Given the description of an element on the screen output the (x, y) to click on. 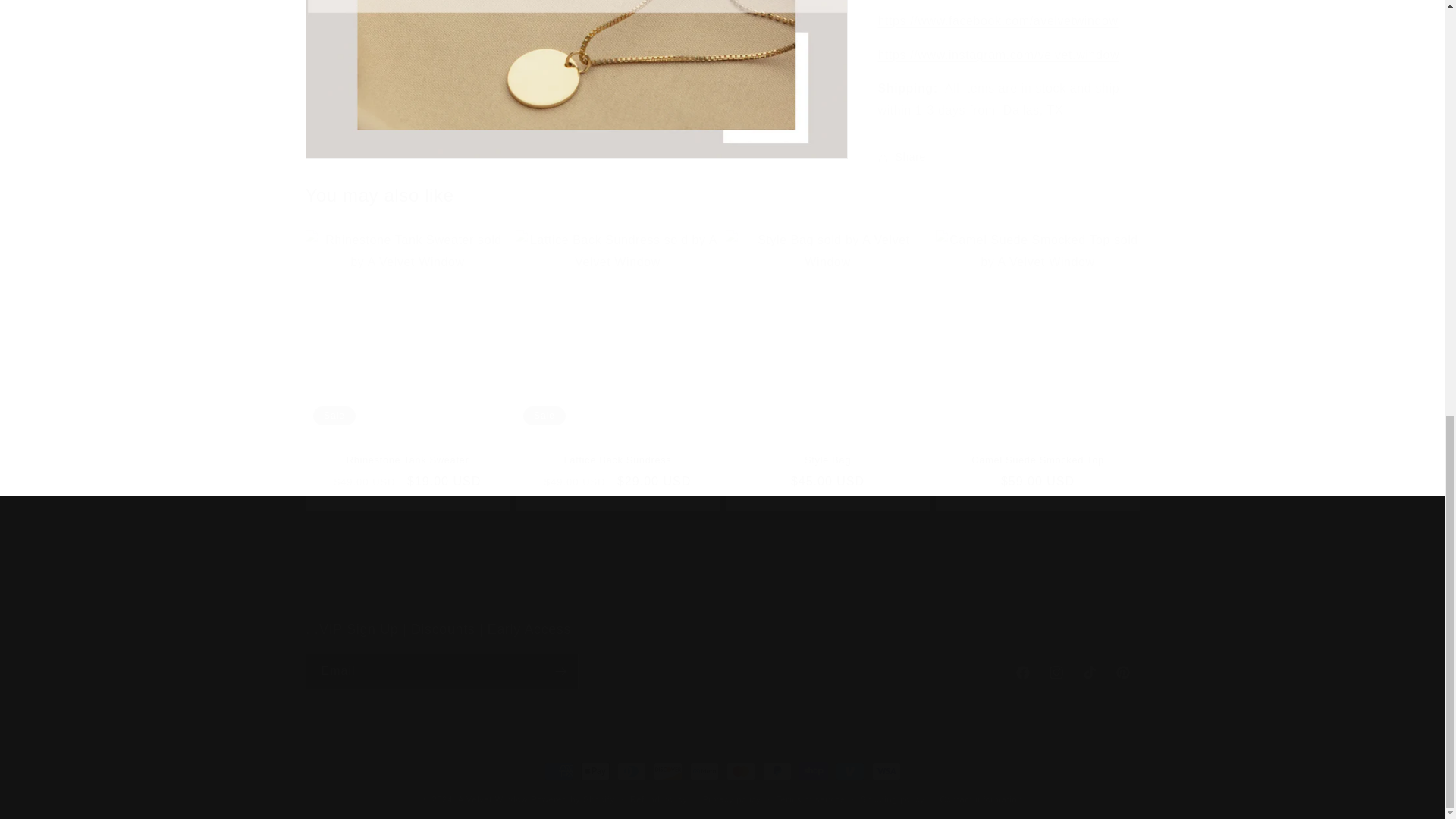
A Velvet Window Facebook Page (997, 9)
A Velvet Window Facebook Page (998, 42)
